Given the description of an element on the screen output the (x, y) to click on. 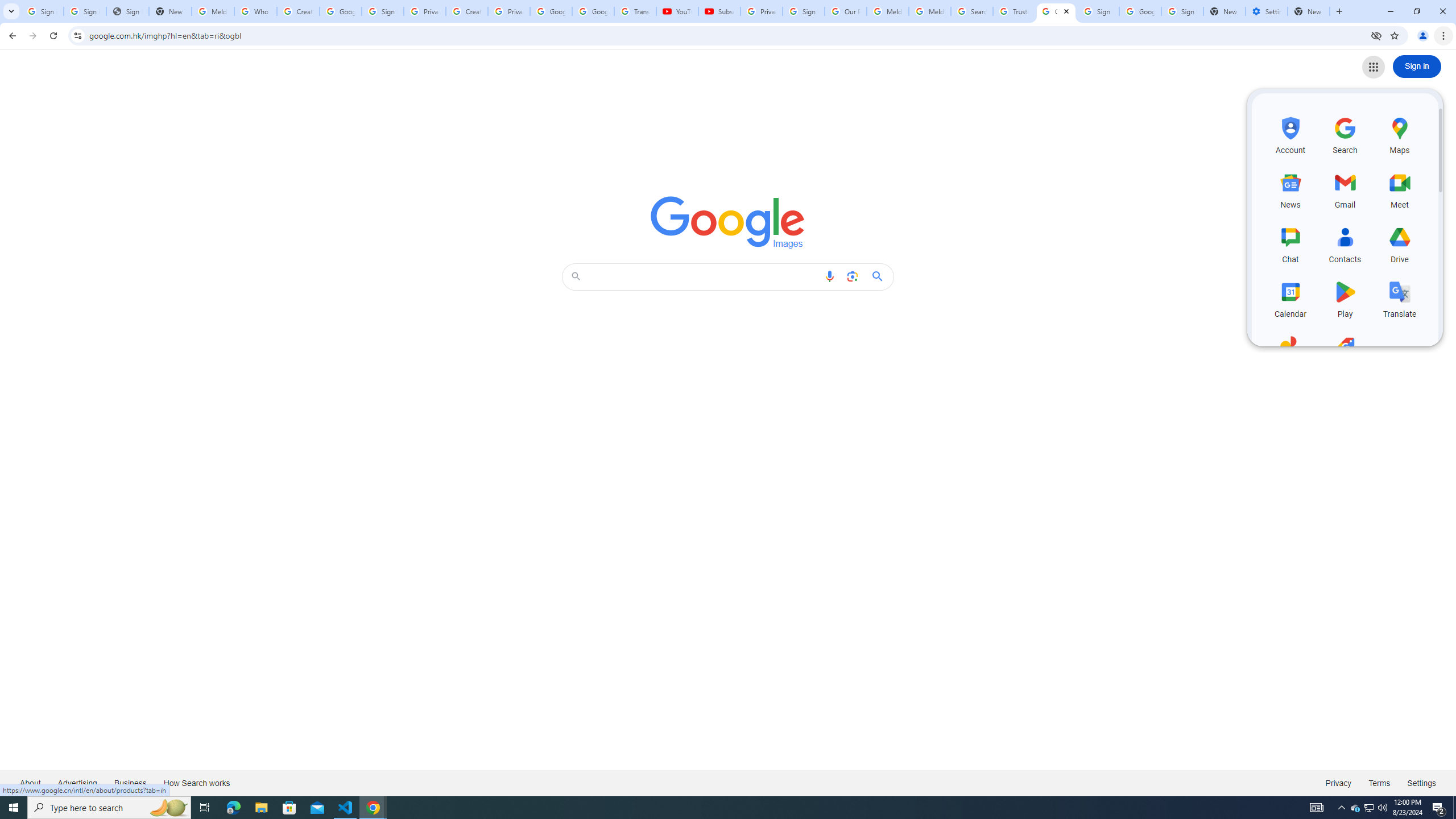
Maps, row 1 of 5 and column 3 of 3 in the first section (1399, 134)
Search, row 1 of 5 and column 2 of 3 in the first section (1344, 134)
Google Images (727, 222)
Search by voice (829, 276)
Sign in - Google Accounts (382, 11)
Sign in - Google Accounts (803, 11)
Subscriptions - YouTube (719, 11)
News, row 2 of 5 and column 1 of 3 in the first section (1290, 188)
Sign in - Google Accounts (42, 11)
